Given the description of an element on the screen output the (x, y) to click on. 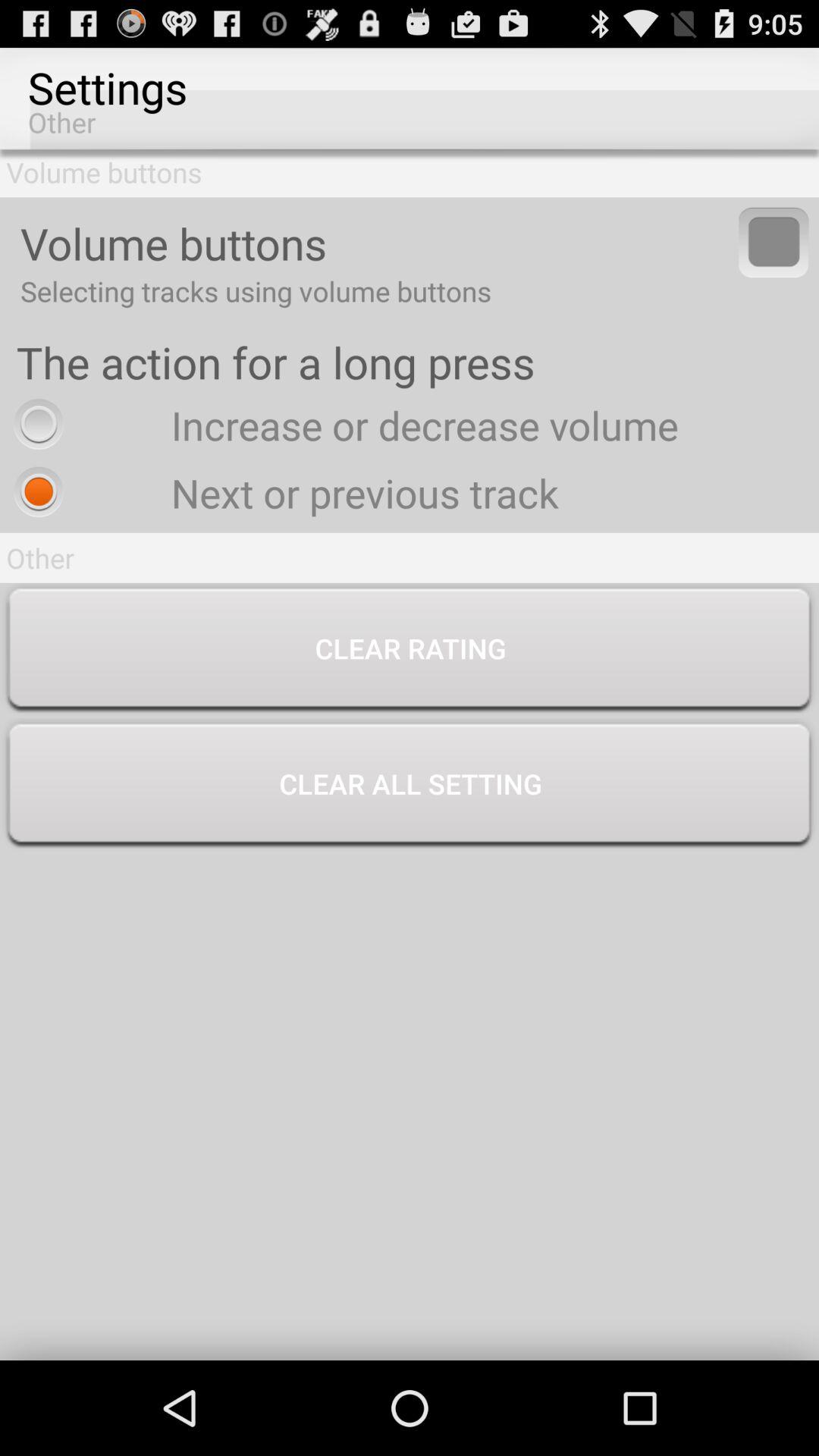
tap the icon above the action for app (773, 242)
